Given the description of an element on the screen output the (x, y) to click on. 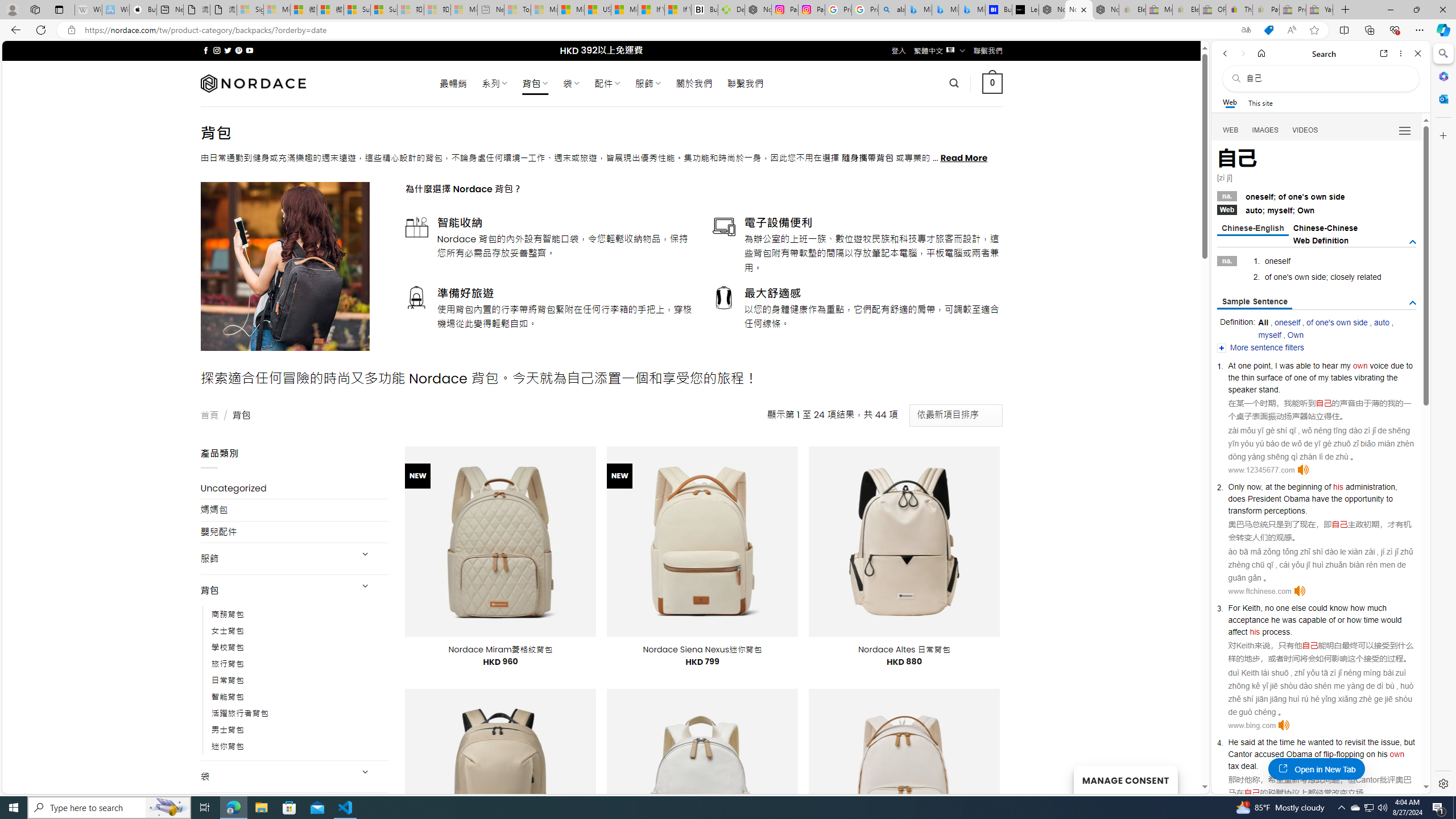
was (1289, 619)
www.bing.com (1251, 725)
said (1247, 741)
Uncategorized (294, 488)
AutomationID: tgdef (1412, 241)
www.12345677.com (1260, 470)
s (1290, 276)
